Given the description of an element on the screen output the (x, y) to click on. 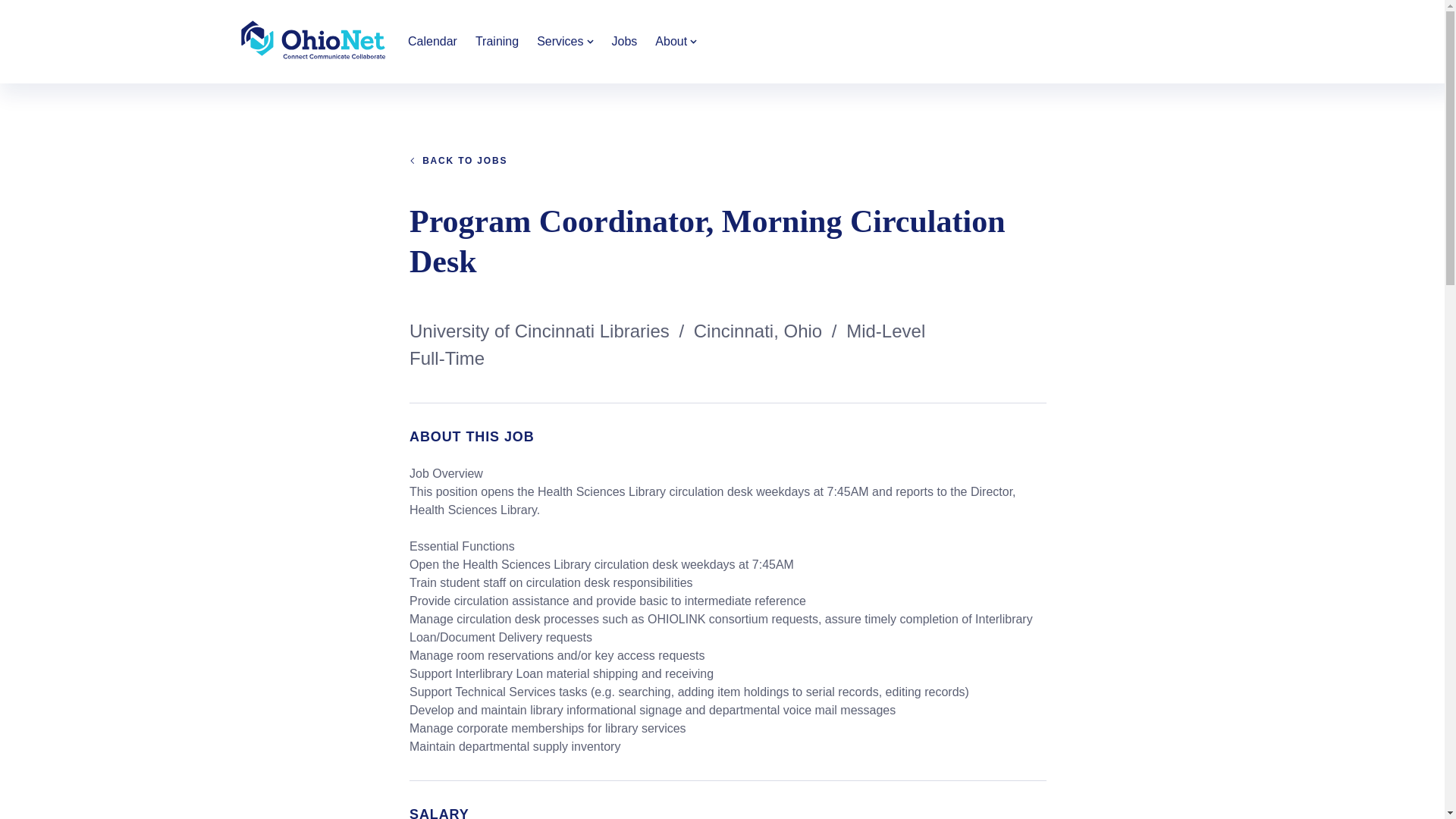
Calendar (431, 41)
About (676, 41)
OhioNET - Connect, Communicate, Collaborate. (314, 39)
OhioNET - Connect, Communicate, Collaborate. (314, 41)
Training (496, 41)
BACK TO JOBS (457, 160)
Services (564, 41)
Jobs (624, 41)
